Given the description of an element on the screen output the (x, y) to click on. 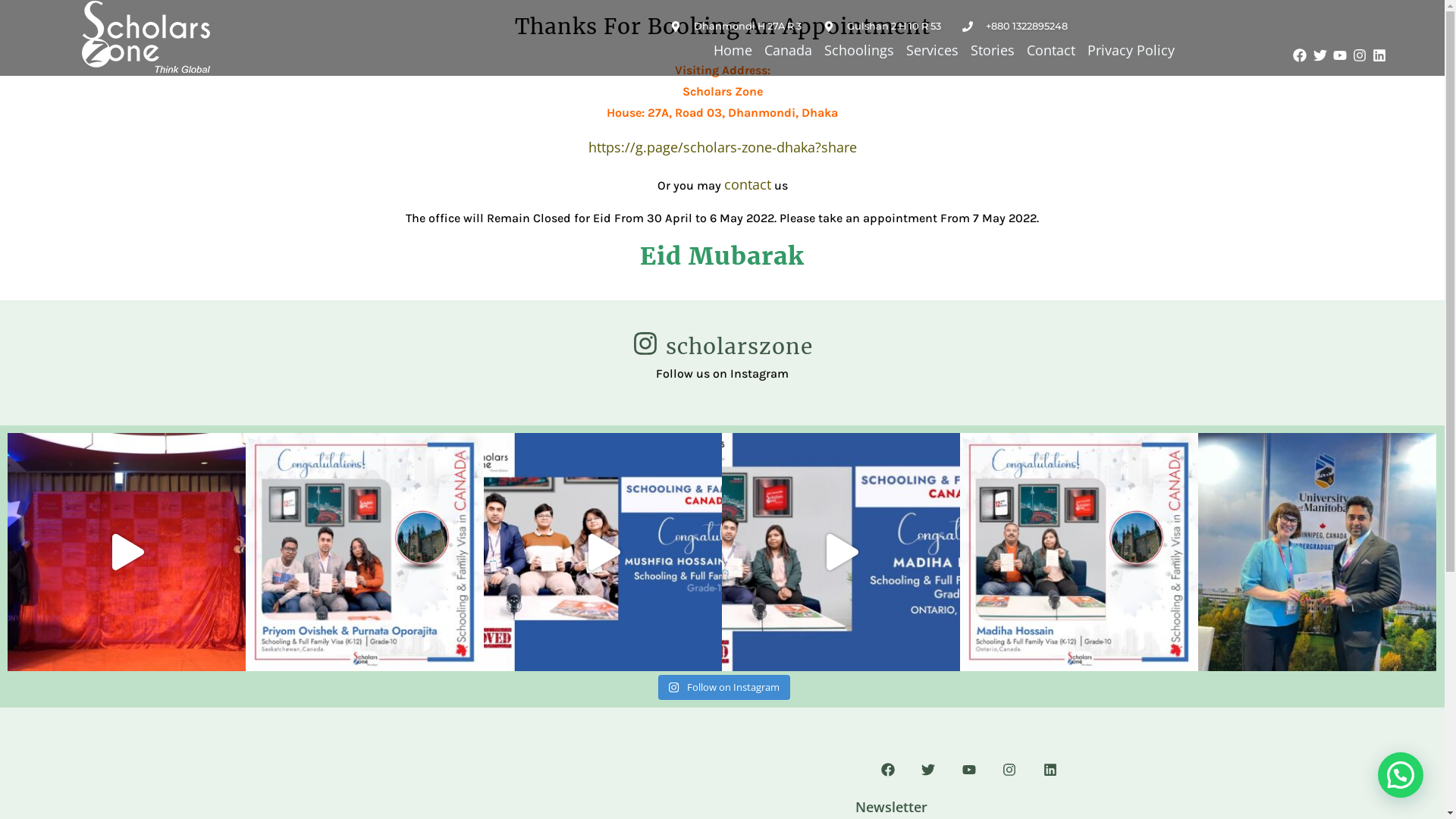
Stories Element type: text (992, 49)
https://g.page/scholars-zone-dhaka?share Element type: text (722, 147)
Follow on Instagram Element type: text (723, 687)
Schoolings Element type: text (858, 49)
Gulshan 2 H 10 R 53 Element type: text (881, 26)
Dhanmondi H 27A R 3 Element type: text (735, 26)
Contact Element type: text (1050, 49)
+880 1322895248 Element type: text (1014, 26)
contact Element type: text (746, 184)
Privacy Policy Element type: text (1130, 49)
Canada Element type: text (788, 49)
Services Element type: text (931, 49)
Home Element type: text (731, 49)
